Given the description of an element on the screen output the (x, y) to click on. 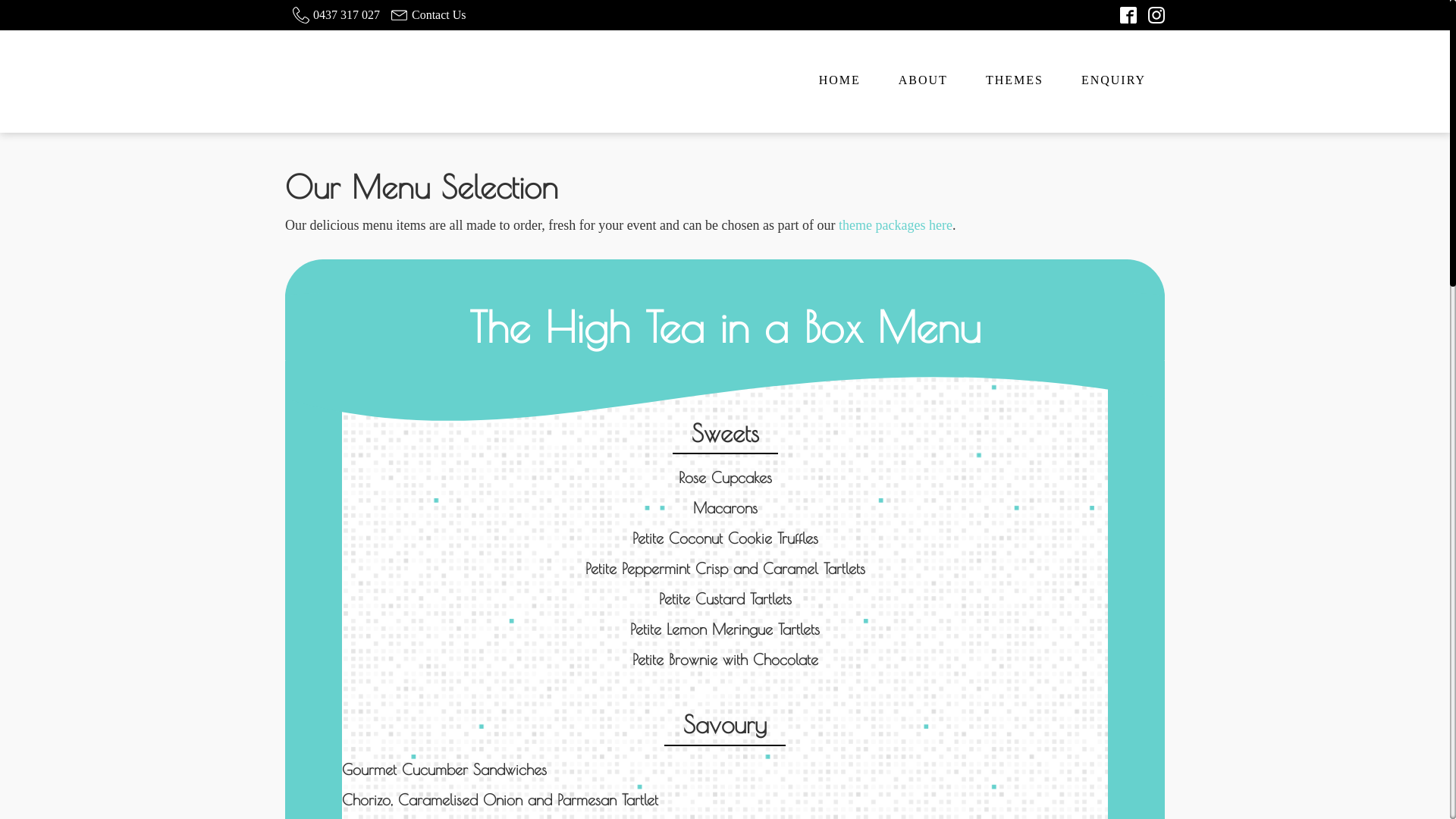
ABOUT Element type: text (923, 80)
0437 317 027 Element type: text (334, 14)
Contact Us Element type: text (426, 14)
HOME Element type: text (839, 80)
THEMES Element type: text (1014, 80)
ENQUIRY Element type: text (1113, 80)
theme packages here Element type: text (895, 224)
